Given the description of an element on the screen output the (x, y) to click on. 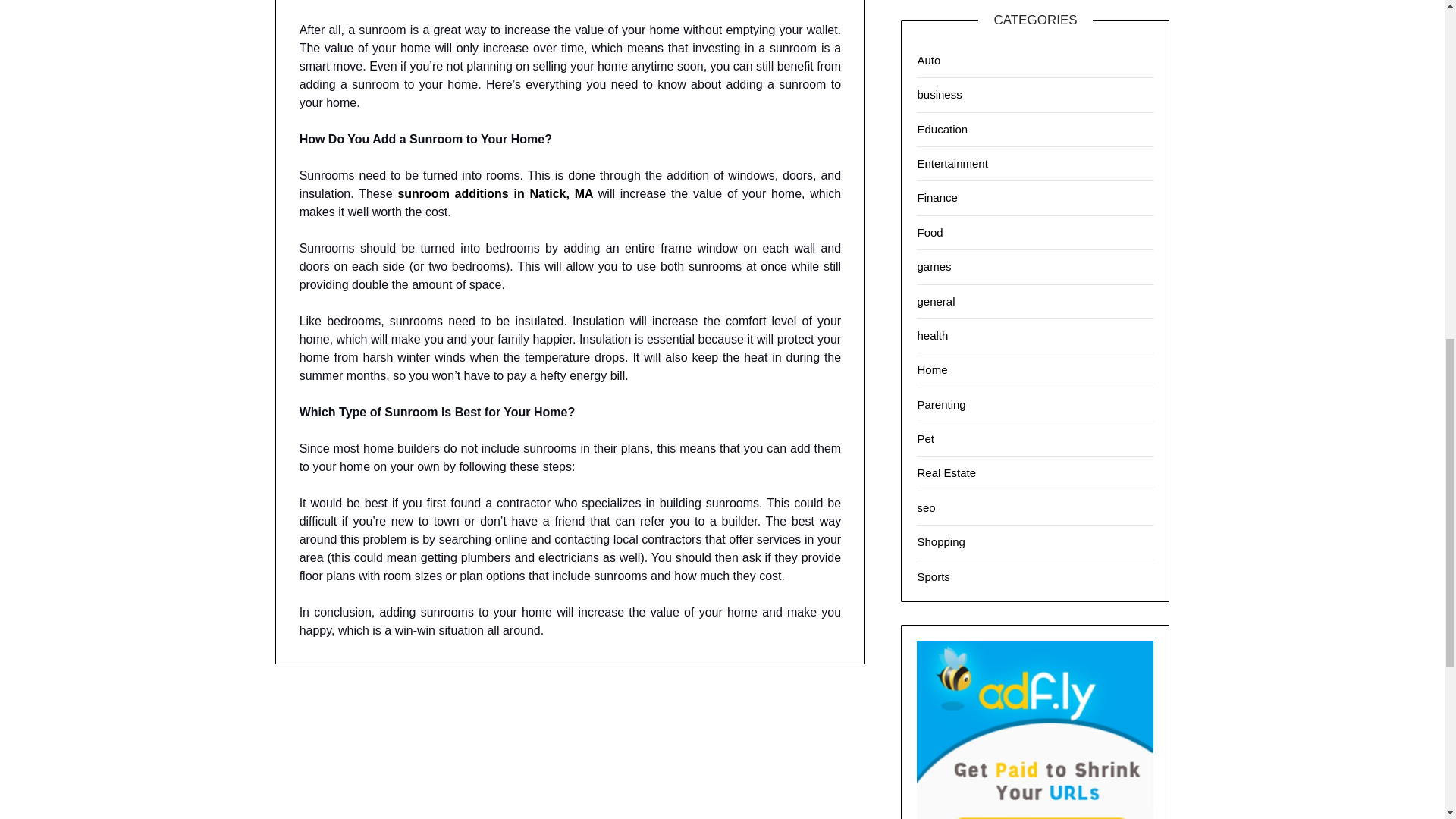
Auto (928, 60)
Food (929, 232)
Entertainment (952, 163)
Sports (933, 576)
Home (932, 369)
Education (942, 128)
health (932, 335)
games (933, 266)
Pet (925, 438)
business (938, 93)
